Given the description of an element on the screen output the (x, y) to click on. 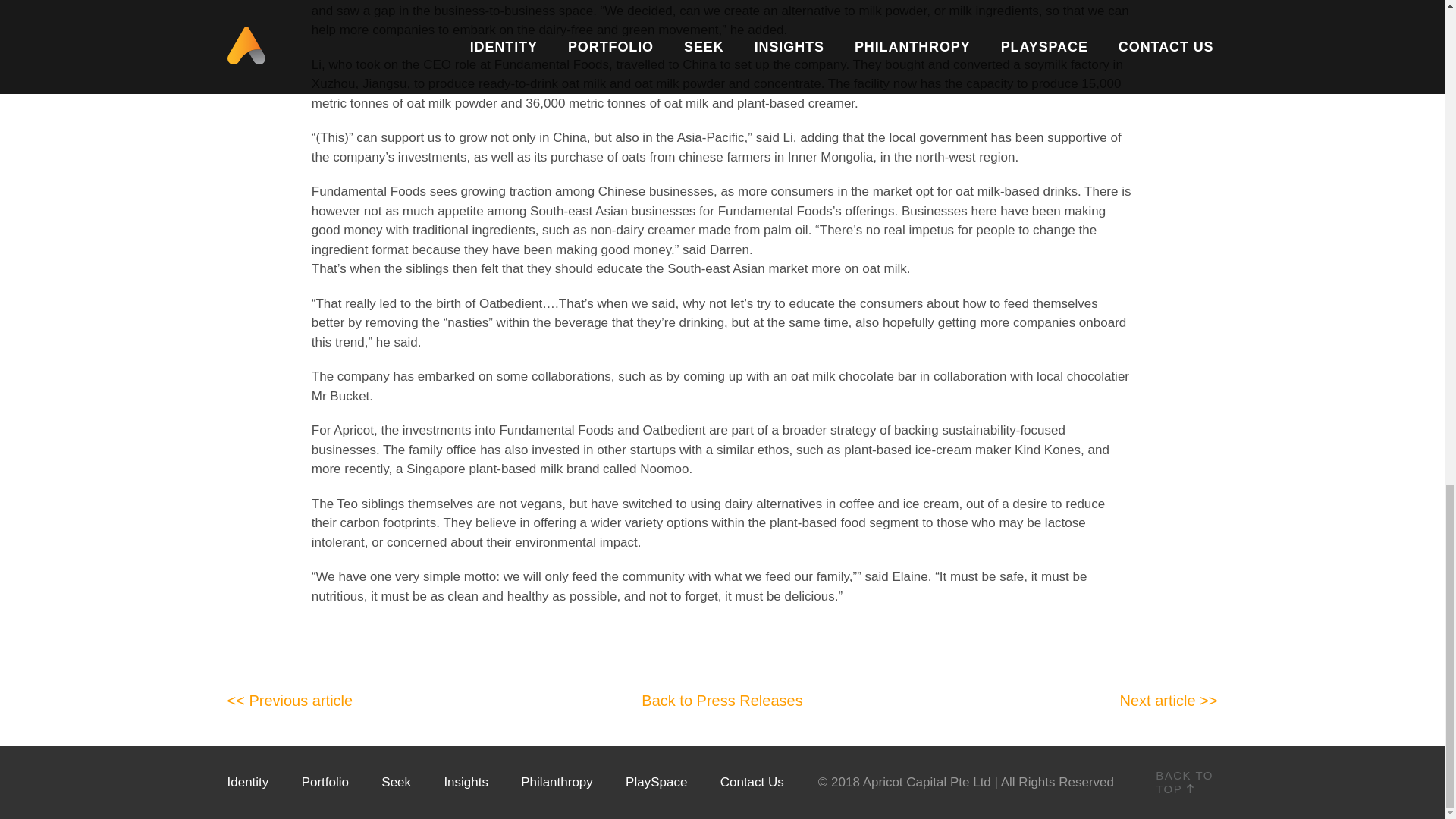
Identity (248, 781)
Seek (395, 781)
PlaySpace (656, 781)
Philanthropy (556, 781)
Back to Press Releases (722, 700)
Insights (465, 781)
Portfolio (325, 781)
Contact Us (752, 781)
